Given the description of an element on the screen output the (x, y) to click on. 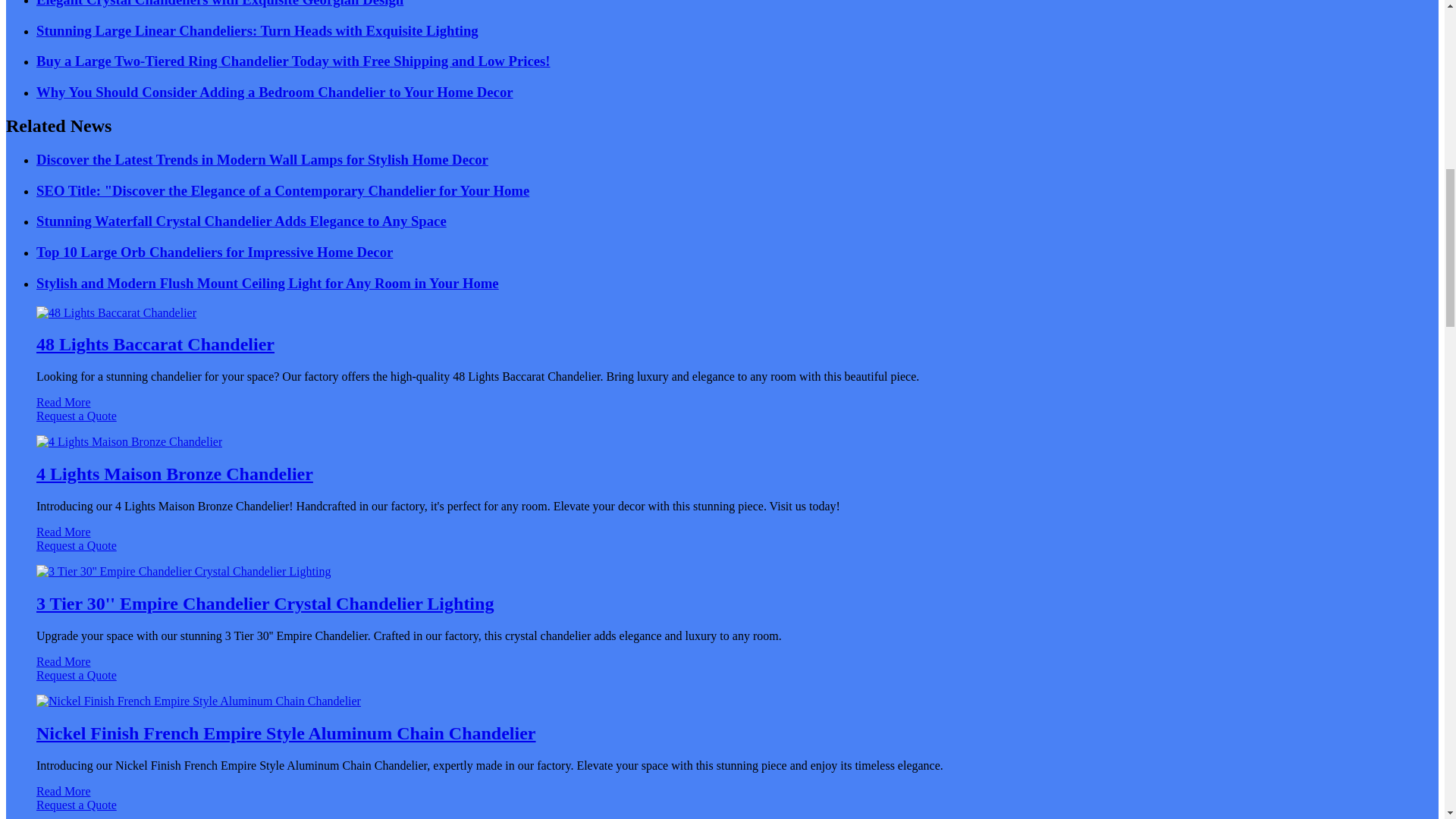
48 Lights Baccarat Chandelier (155, 343)
Request a Quote (721, 422)
Read More (63, 401)
